Given the description of an element on the screen output the (x, y) to click on. 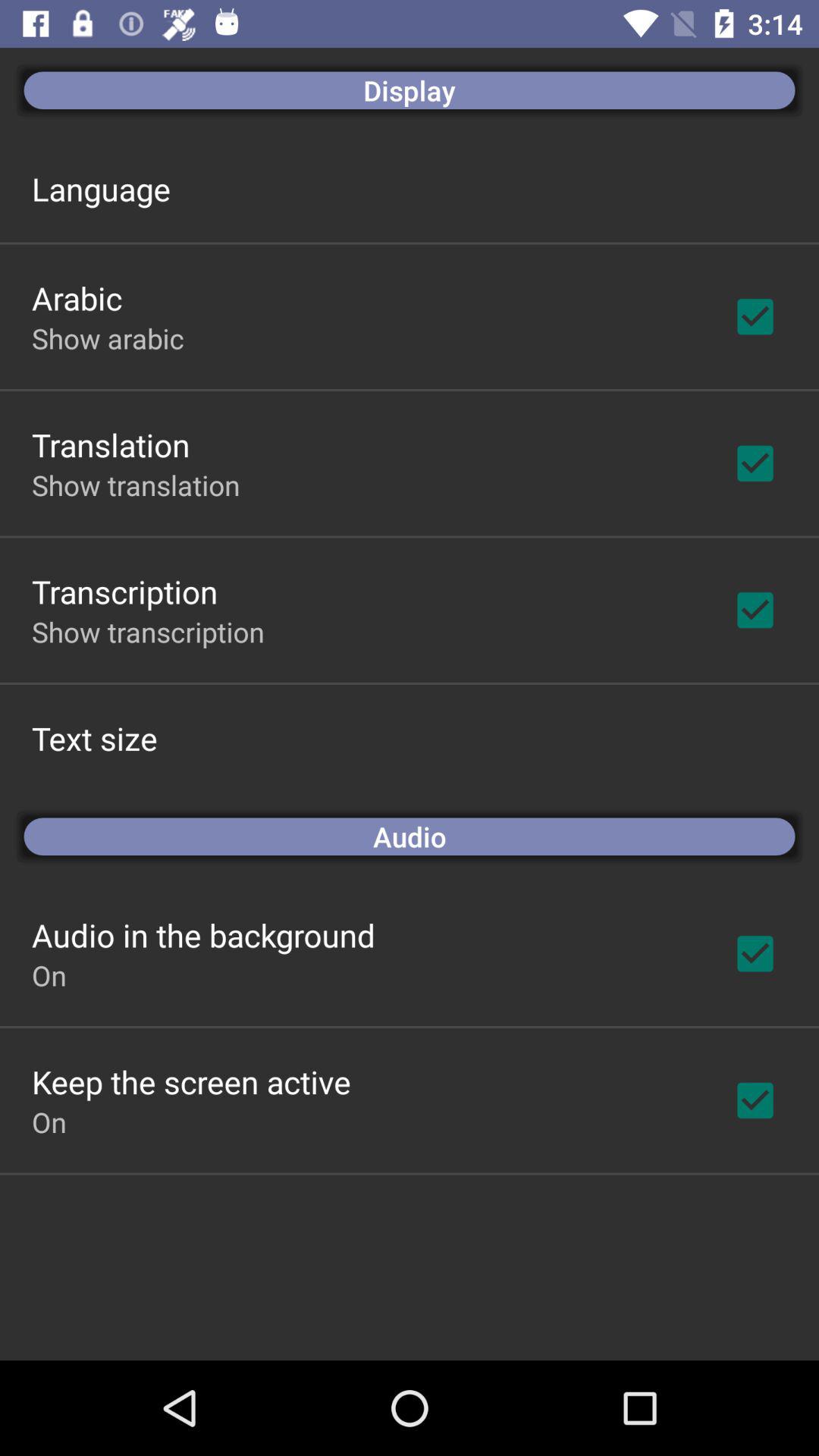
launch app above the transcription item (135, 484)
